Given the description of an element on the screen output the (x, y) to click on. 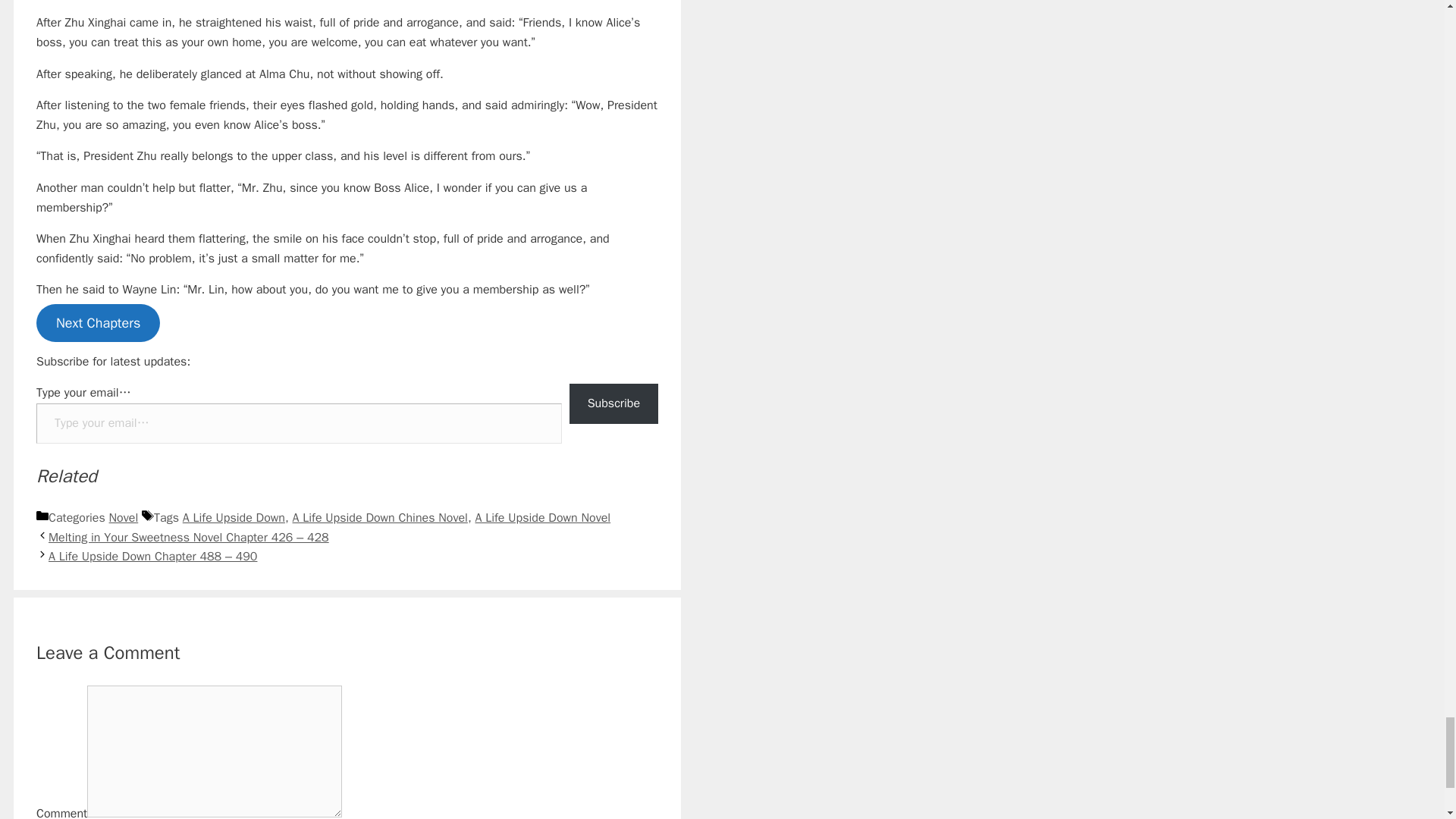
A Life Upside Down Chines Novel (379, 517)
Next Chapters (98, 322)
A Life Upside Down (234, 517)
Please fill in this field. (299, 423)
Novel (123, 517)
A Life Upside Down Novel (542, 517)
Subscribe (613, 404)
